Given the description of an element on the screen output the (x, y) to click on. 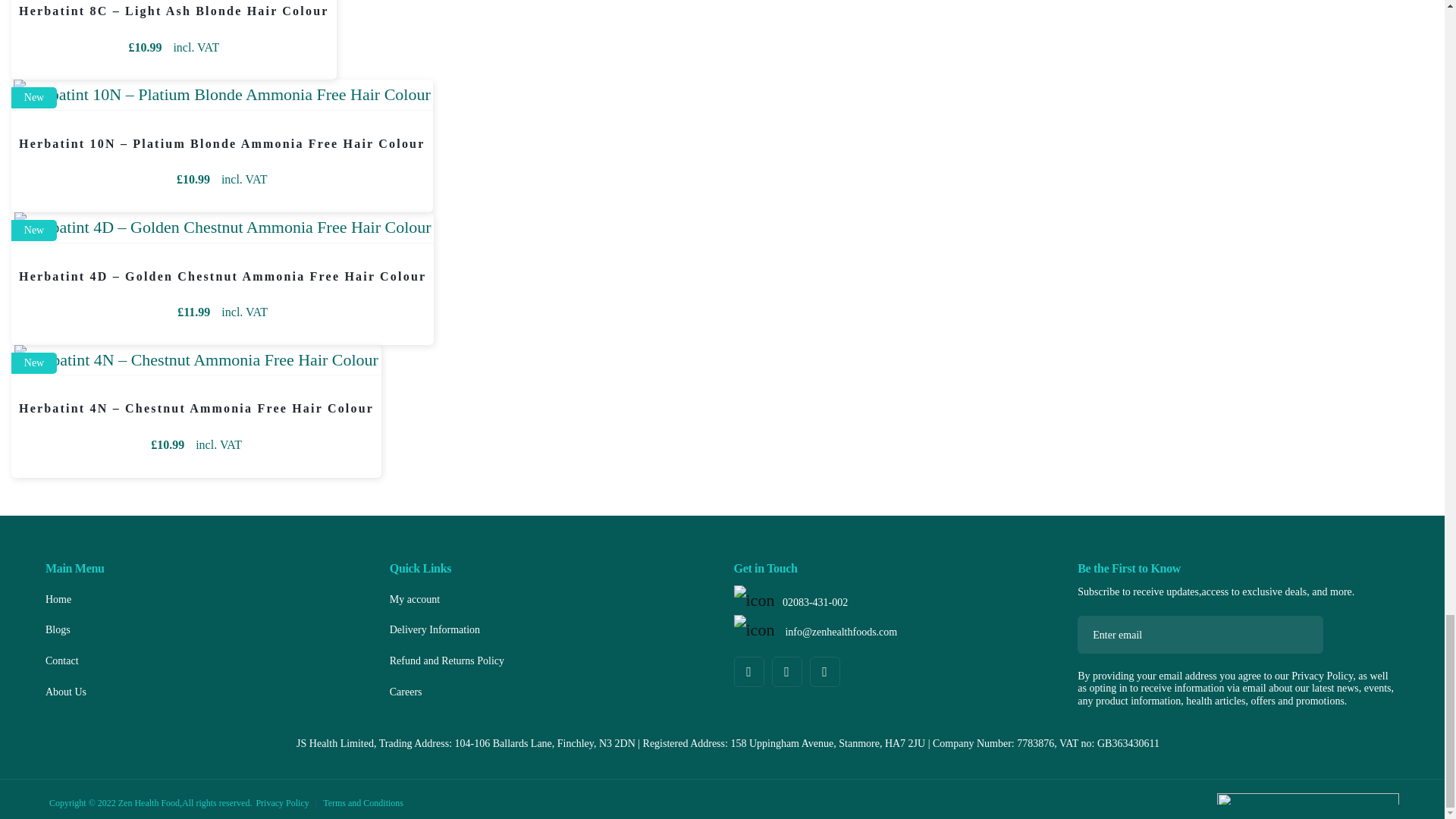
Subscribe (1297, 634)
